Given the description of an element on the screen output the (x, y) to click on. 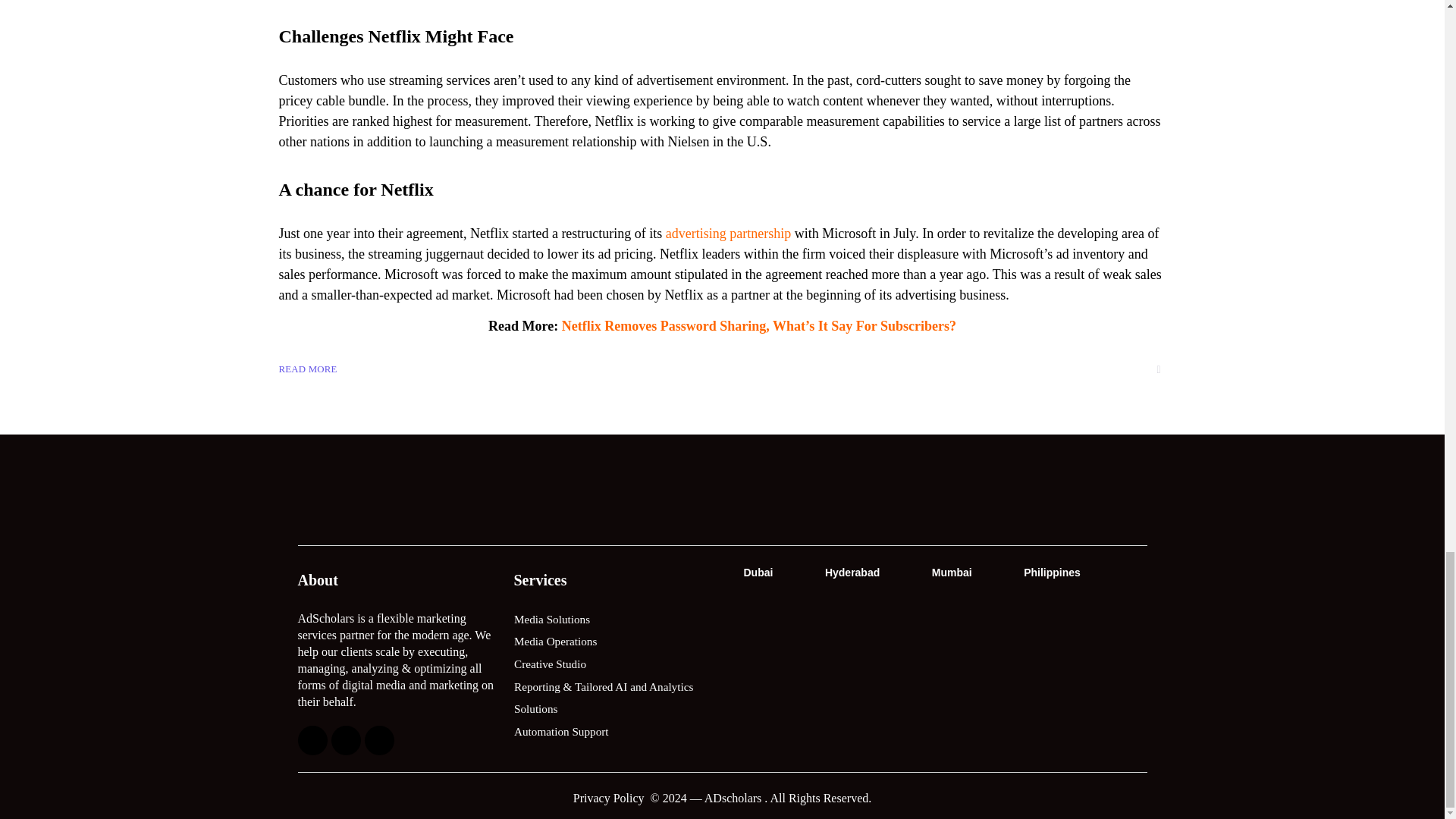
READ MORE (308, 369)
advertising partnership (727, 233)
Creative Studio (613, 664)
Automation Support (613, 731)
Media Operations (613, 641)
Media Solutions (613, 619)
